Given the description of an element on the screen output the (x, y) to click on. 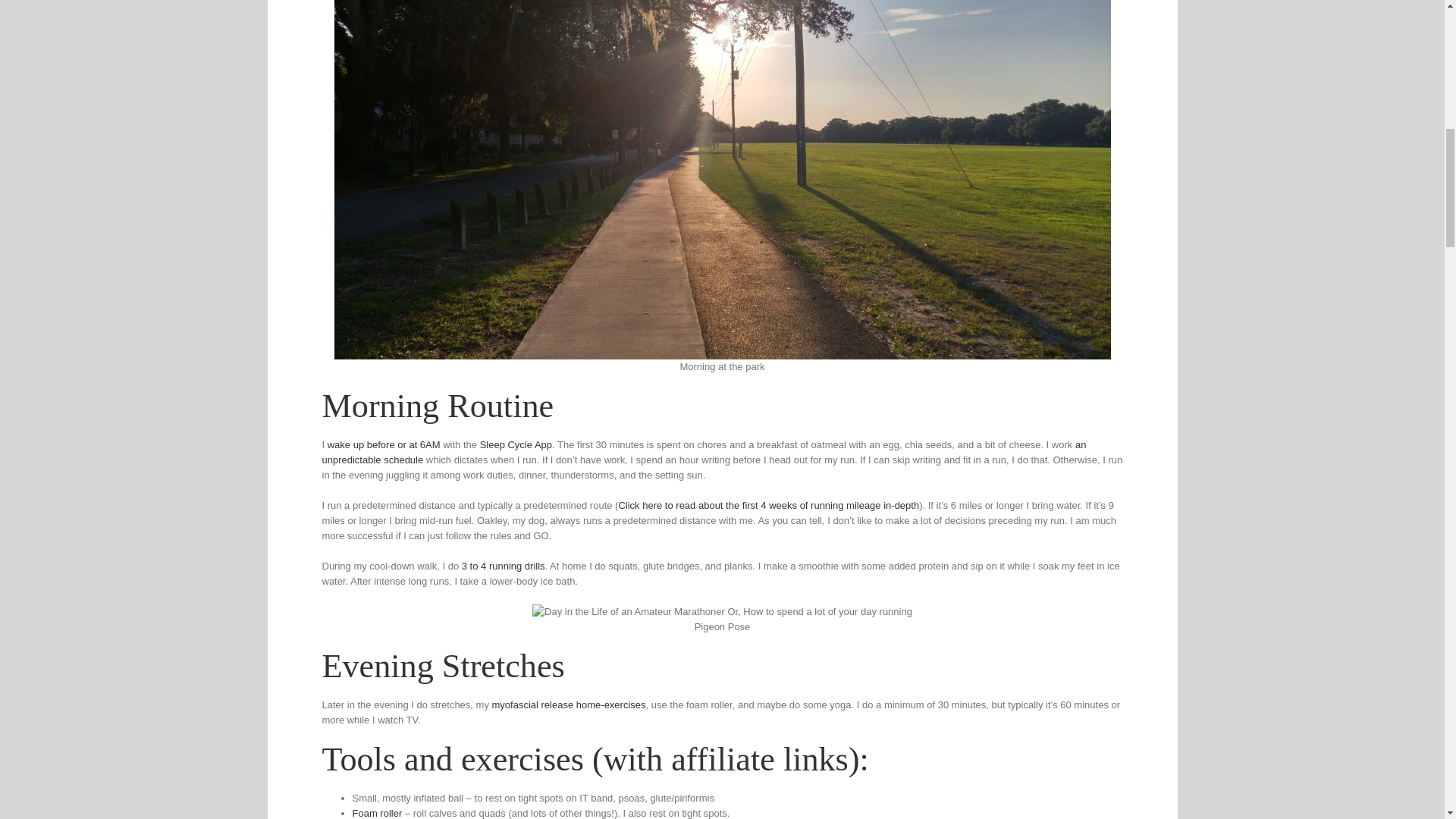
wake up before or at 6AM (384, 444)
an unpredictable schedule (703, 452)
myofascial release home-exercises (569, 704)
Sleep Cycle App (515, 444)
3 to 4 running drills (502, 565)
Foam roller (376, 813)
